Given the description of an element on the screen output the (x, y) to click on. 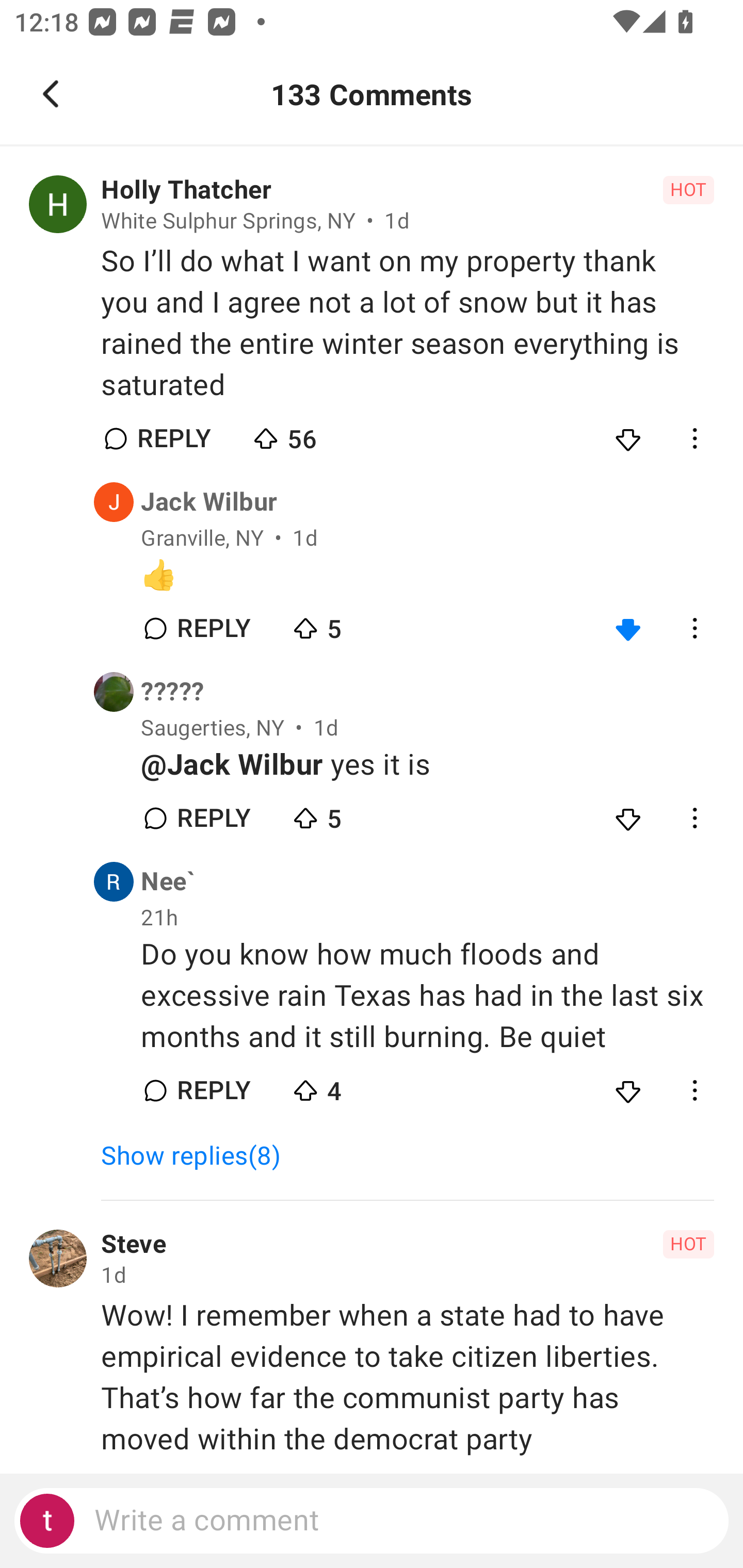
Navigate up (50, 93)
Holly Thatcher (186, 190)
56 (320, 433)
REPLY (173, 438)
Jack Wilbur (209, 502)
👍 (427, 575)
5 (360, 623)
REPLY (213, 627)
????? (172, 692)
@Jack Wilbur yes it is   (427, 764)
5 (360, 813)
REPLY (213, 817)
Nee` (167, 881)
4 (360, 1085)
REPLY (213, 1090)
Show replies(8) (199, 1156)
Steve (133, 1244)
Write a comment (371, 1520)
